Given the description of an element on the screen output the (x, y) to click on. 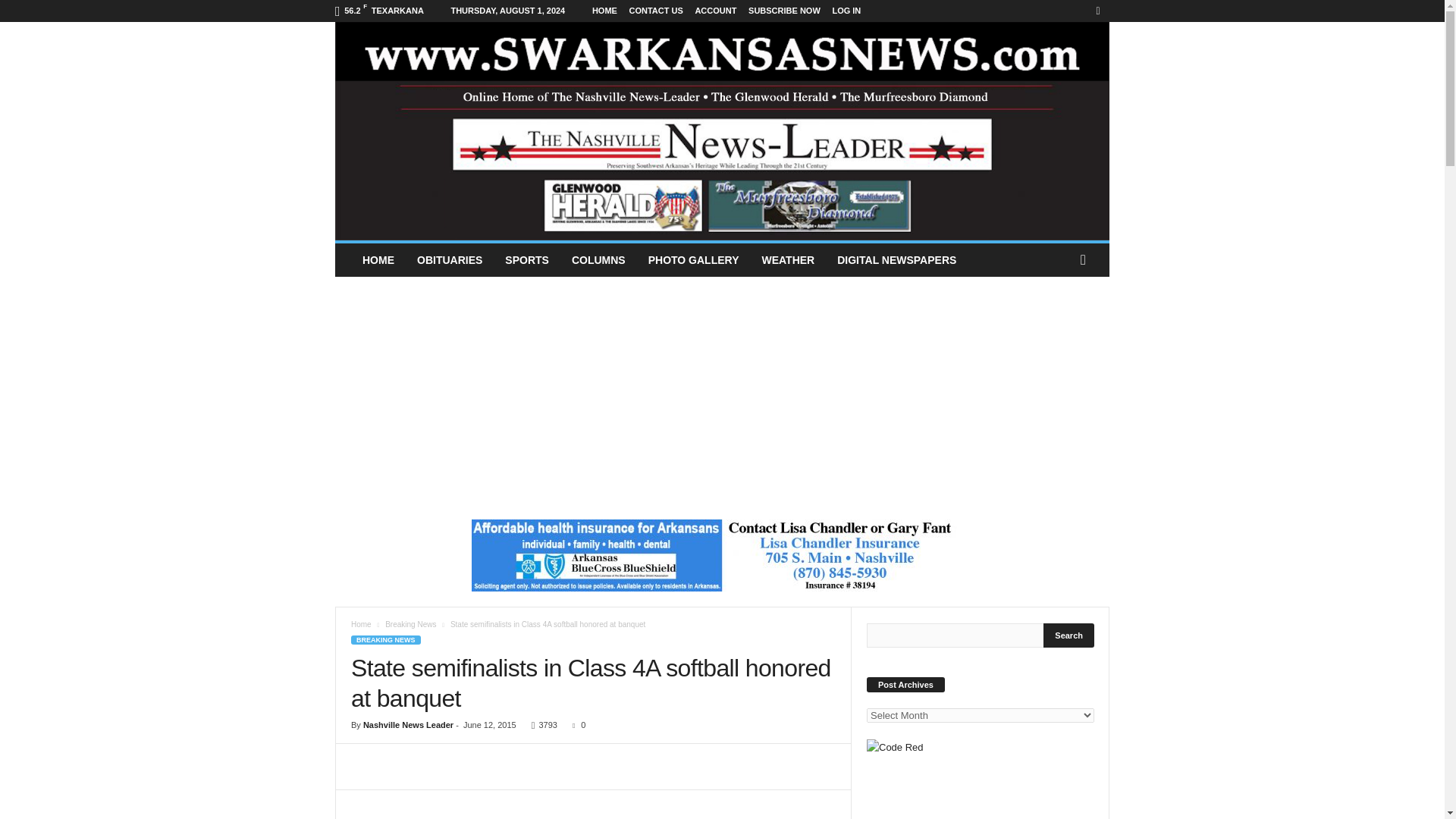
ACCOUNT (715, 10)
OBITUARIES (449, 259)
SUBSCRIBE NOW (784, 10)
View all posts in Breaking News (410, 623)
Search (1068, 635)
LOG IN (845, 10)
HOME (378, 259)
CONTACT US (655, 10)
HOME (604, 10)
